Given the description of an element on the screen output the (x, y) to click on. 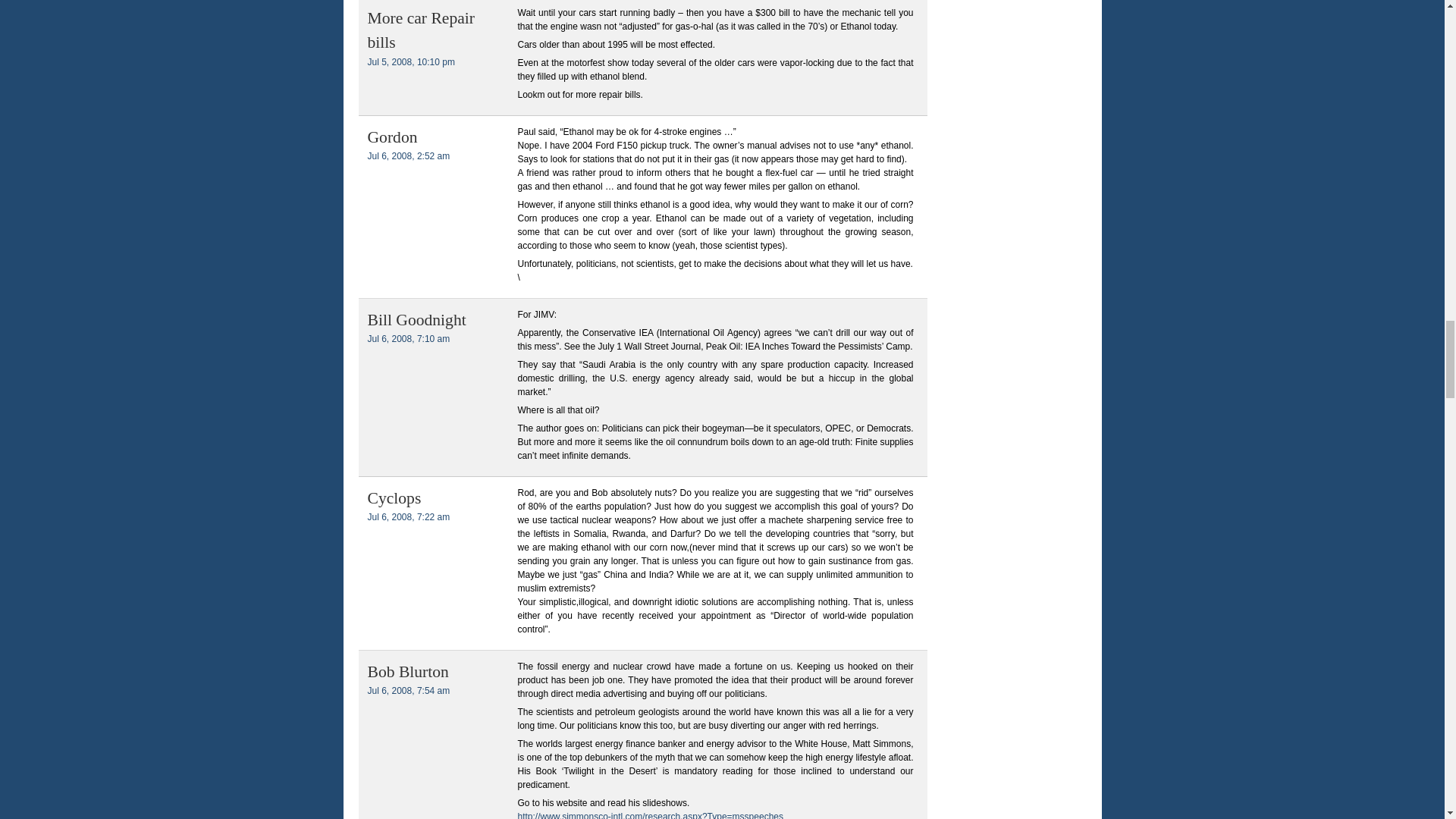
Jul 6, 2008, 7:54 am (407, 690)
Jul 6, 2008, 2:52 am (407, 155)
Jul 5, 2008, 10:10 pm (410, 61)
Jul 6, 2008, 7:22 am (407, 516)
Jul 6, 2008, 7:10 am (407, 338)
